Given the description of an element on the screen output the (x, y) to click on. 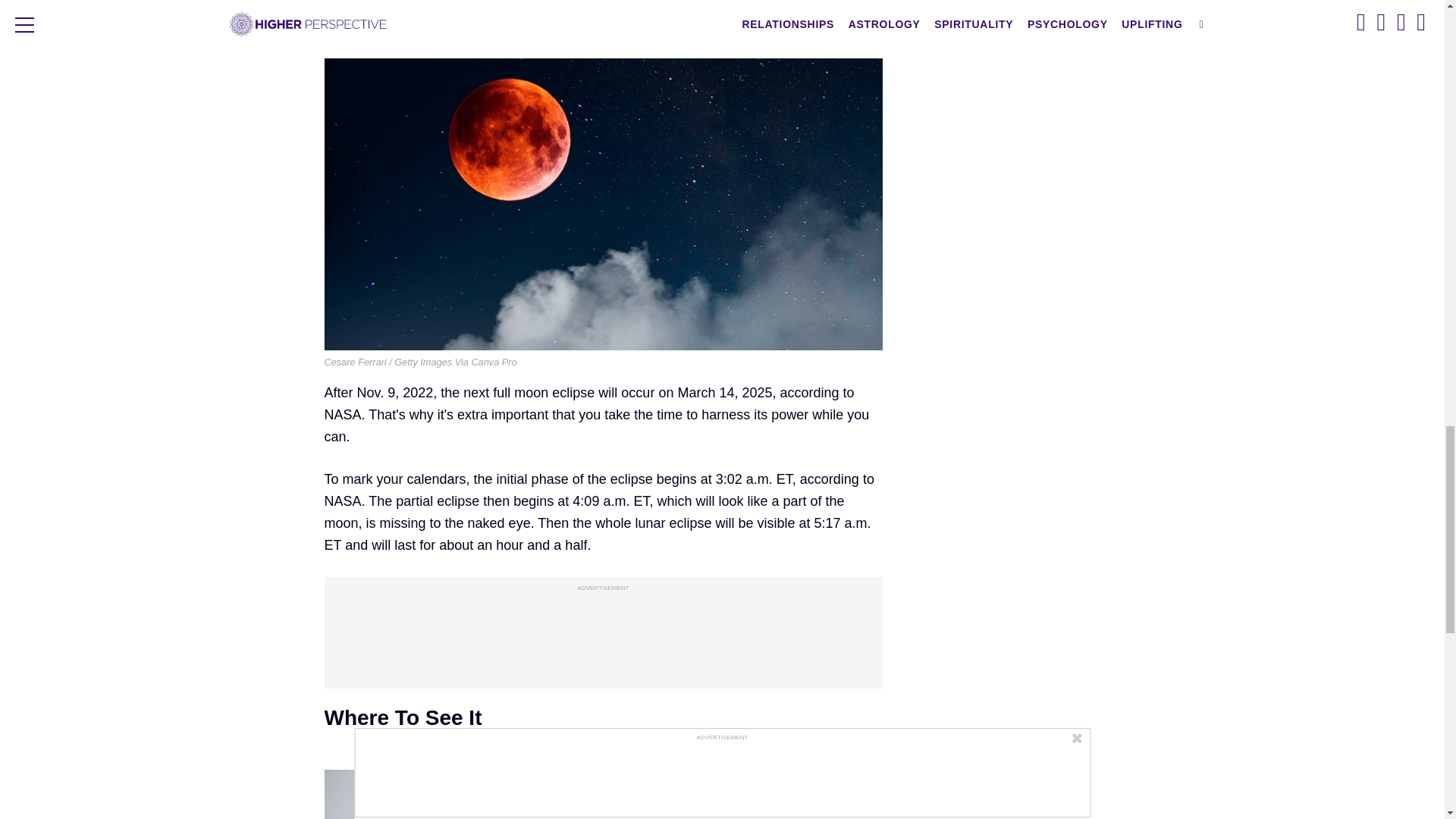
Girl Looking Through Telescope (603, 794)
